Given the description of an element on the screen output the (x, y) to click on. 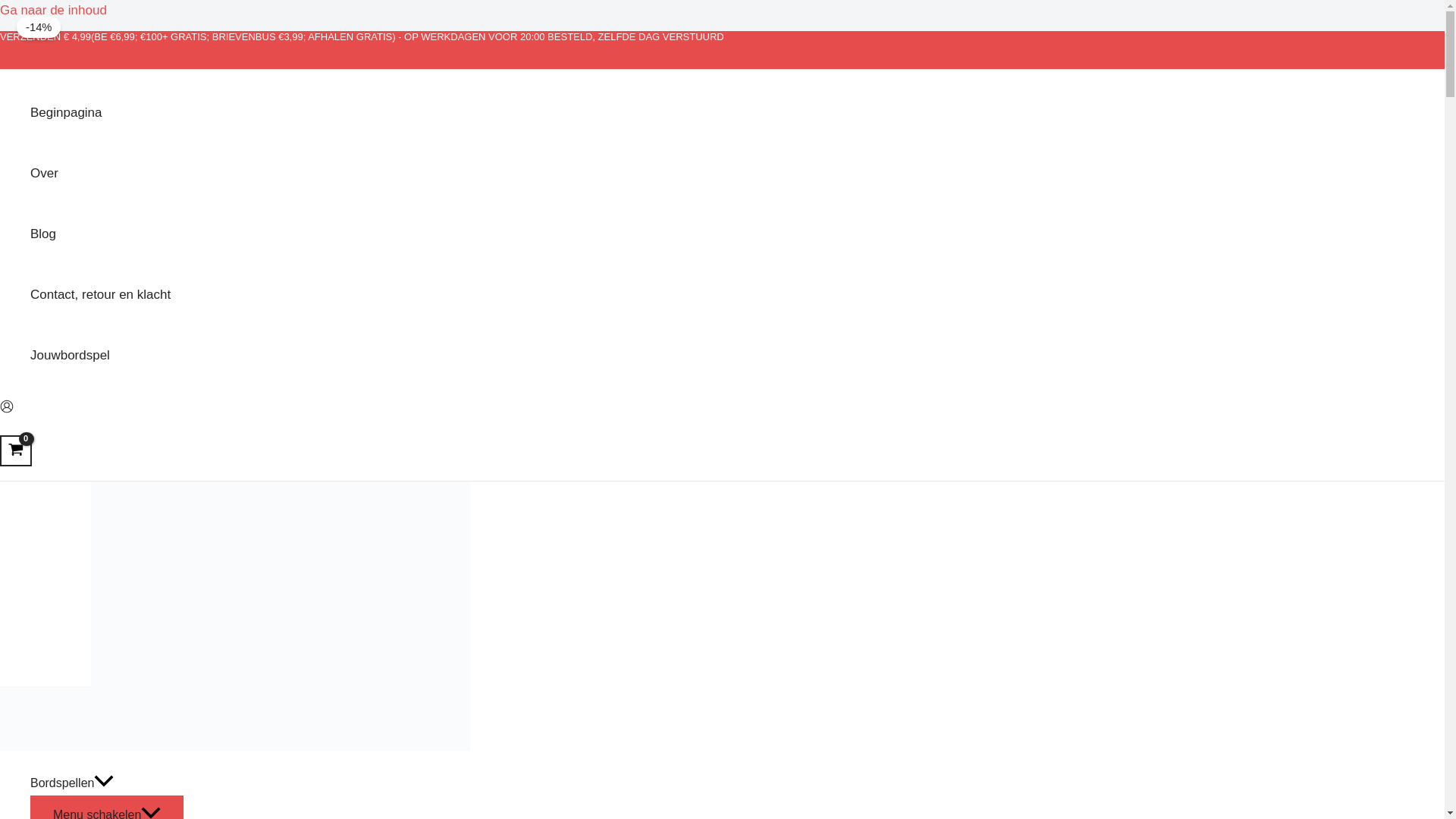
Beginpagina (100, 112)
Ga naar de inhoud (53, 10)
Jouwbordspel (100, 355)
Blog (100, 233)
Ga naar de inhoud (53, 10)
Menu schakelen (106, 807)
Contact, retour en klacht (100, 294)
Bordspellen (106, 782)
Over (100, 173)
